Given the description of an element on the screen output the (x, y) to click on. 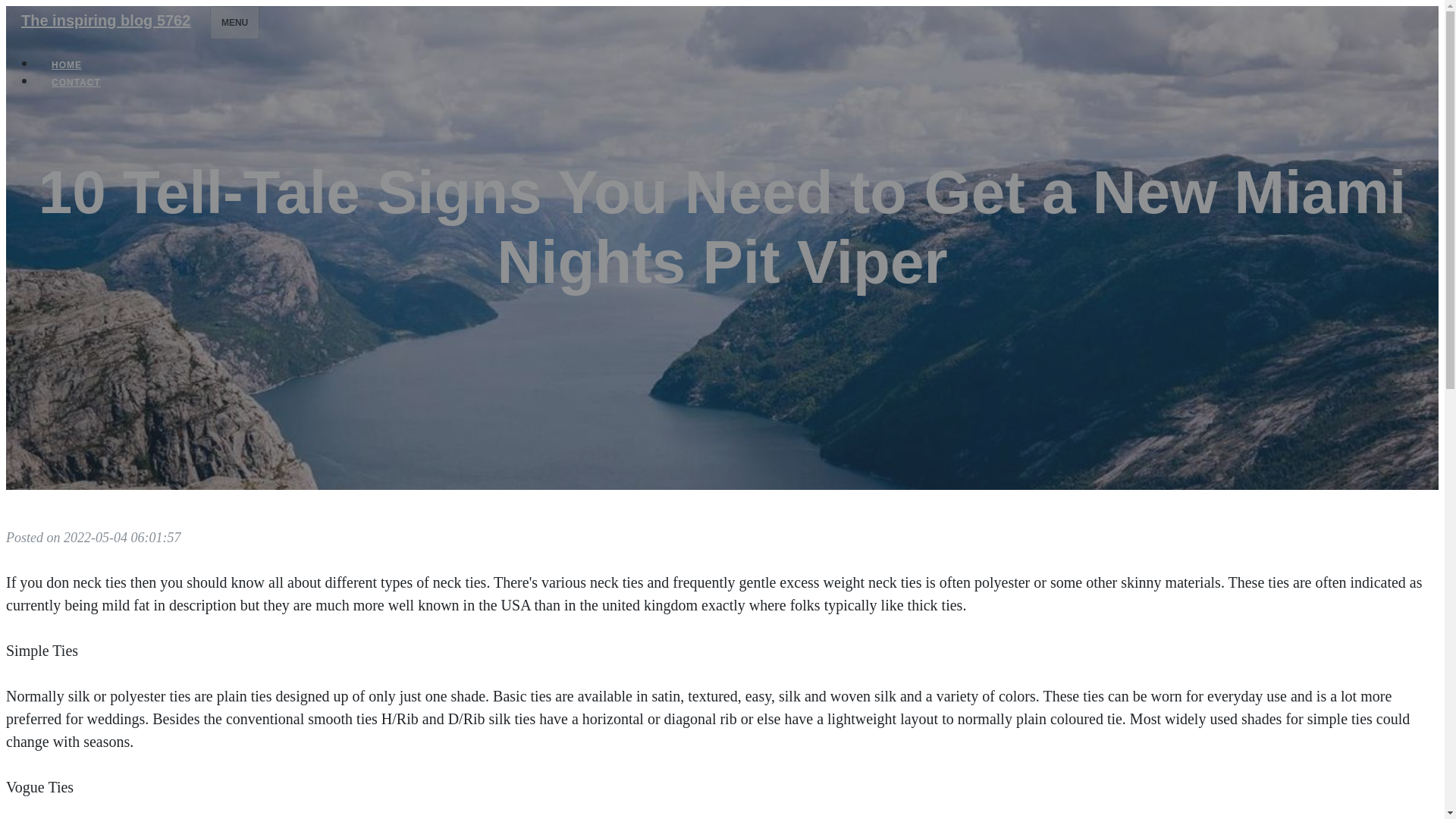
CONTACT (76, 82)
MENU (234, 22)
HOME (66, 64)
The inspiring blog 5762 (105, 20)
